Given the description of an element on the screen output the (x, y) to click on. 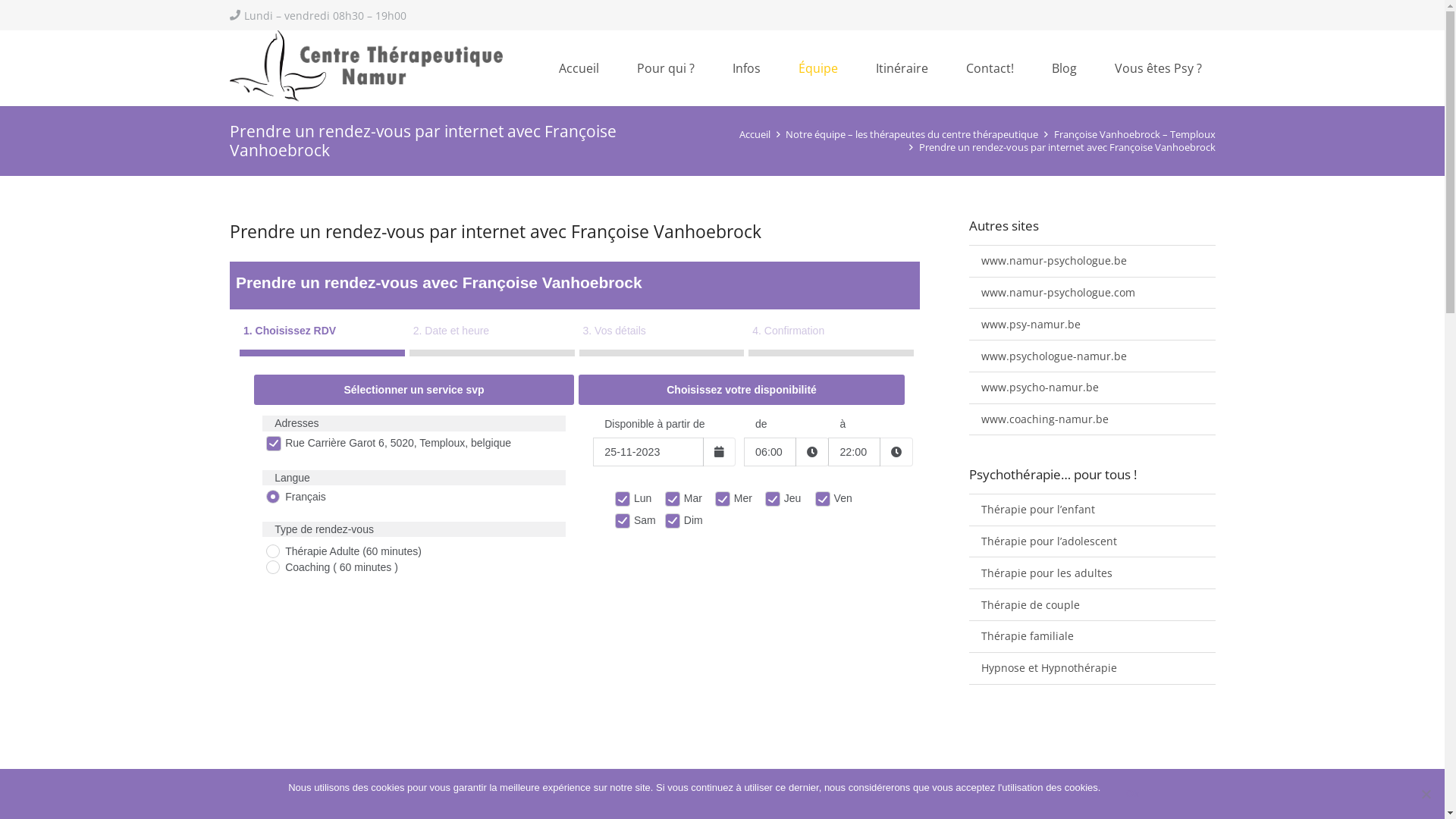
No Element type: hover (1425, 793)
Pour qui ? Element type: text (665, 68)
www.psy-namur.be Element type: text (1092, 323)
Accueil Element type: text (754, 134)
www.namur-psychologue.com Element type: text (1092, 292)
www.coaching-namur.be Element type: text (1092, 419)
www.psychologue-namur.be Element type: text (1092, 355)
Accueil Element type: text (578, 68)
Infos Element type: text (746, 68)
Blog Element type: text (1063, 68)
www.namur-psychologue.be Element type: text (1092, 260)
Contact! Element type: text (989, 68)
www.psycho-namur.be Element type: text (1092, 387)
Ok Element type: text (1131, 793)
